Given the description of an element on the screen output the (x, y) to click on. 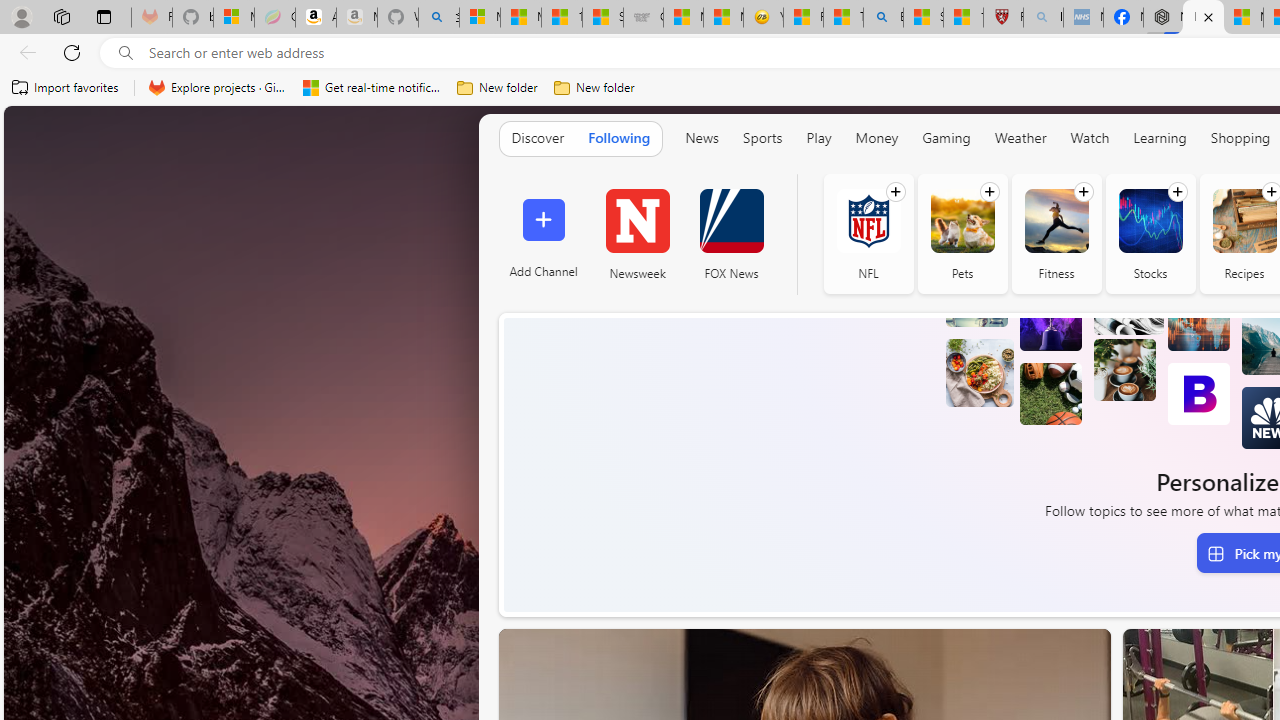
Follow channel (1177, 192)
Pets (962, 233)
Search icon (125, 53)
